Given the description of an element on the screen output the (x, y) to click on. 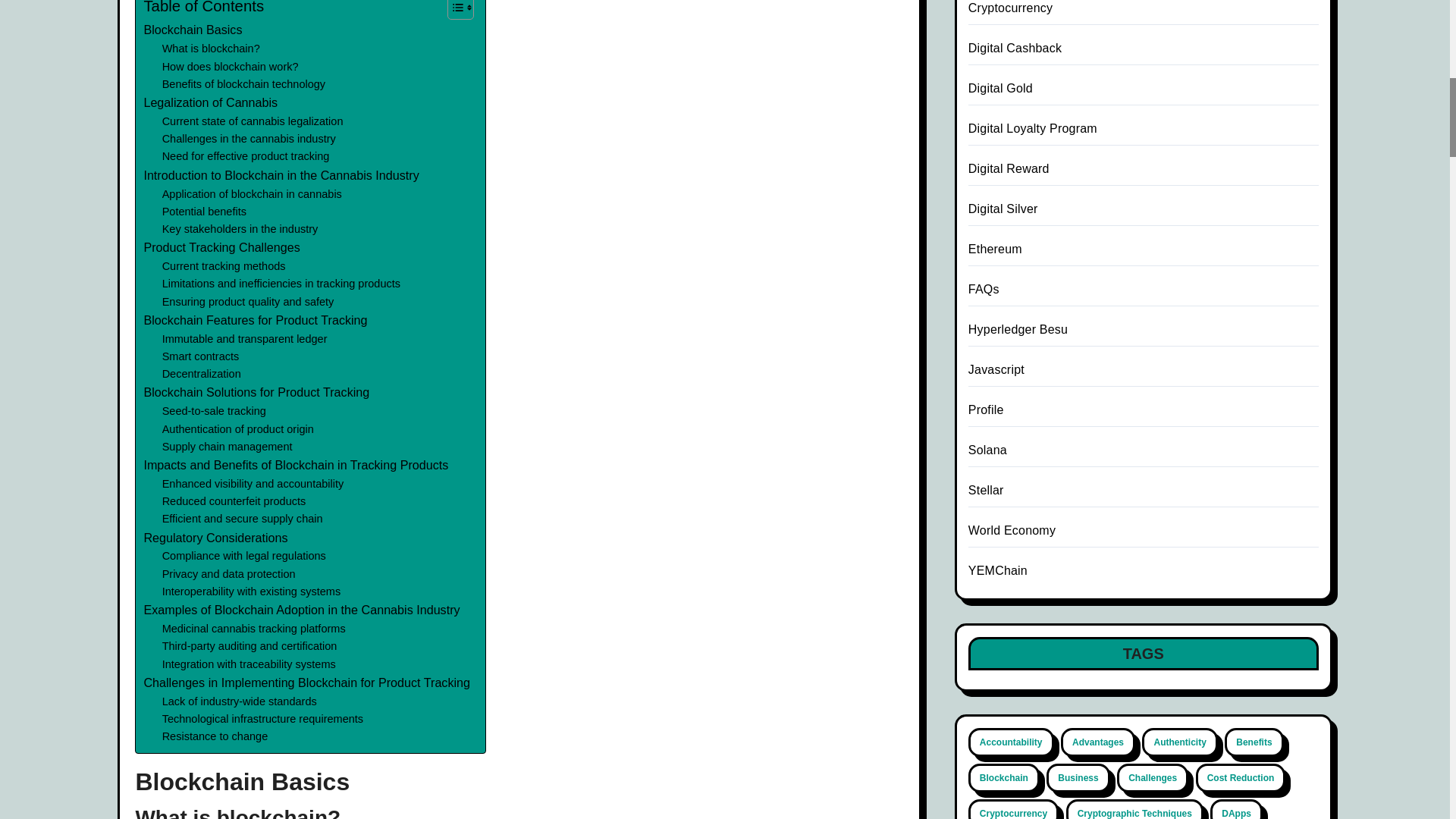
Smart contracts (200, 356)
Current tracking methods (223, 266)
Current state of cannabis legalization (252, 121)
Seed-to-sale tracking (213, 411)
Application of blockchain in cannabis (251, 193)
How does blockchain work? (229, 67)
Blockchain Solutions for Product Tracking (255, 392)
Introduction to Blockchain in the Cannabis Industry (280, 175)
Blockchain Features for Product Tracking (254, 320)
Product Tracking Challenges (220, 247)
Legalization of Cannabis (210, 103)
Potential benefits (203, 211)
Potential benefits (203, 211)
Limitations and inefficiencies in tracking products (280, 283)
What is blockchain? (210, 48)
